Given the description of an element on the screen output the (x, y) to click on. 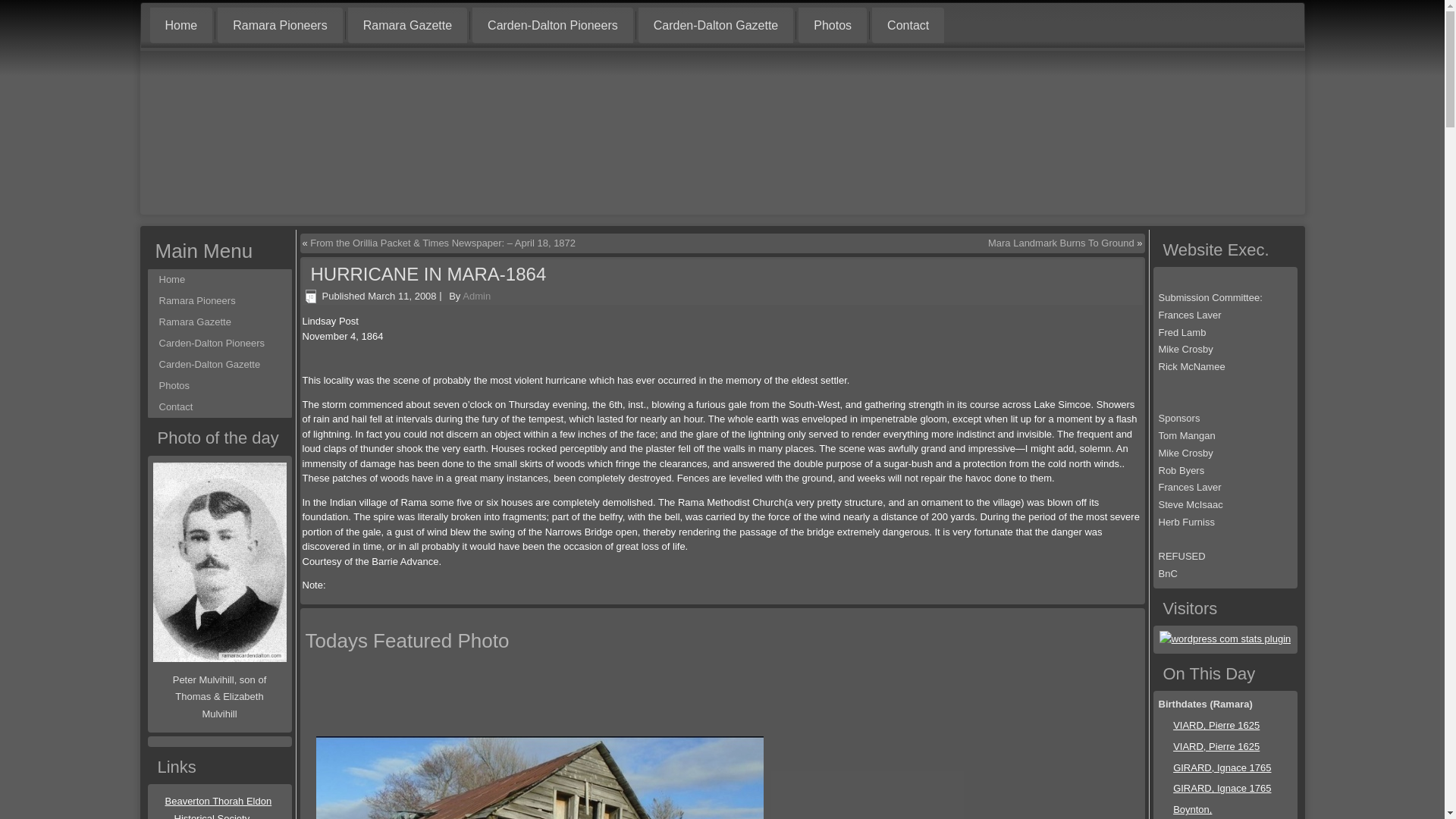
Ramara Pioneers (279, 25)
Carden-Dalton Gazette (219, 364)
Ramara Pioneers (219, 301)
Photos (831, 25)
Ramara Gazette (407, 25)
Photos (219, 385)
Home (180, 25)
Carden-Dalton Gazette (219, 364)
Carden-Dalton Gazette (716, 25)
Ramara Pioneers (219, 301)
